Given the description of an element on the screen output the (x, y) to click on. 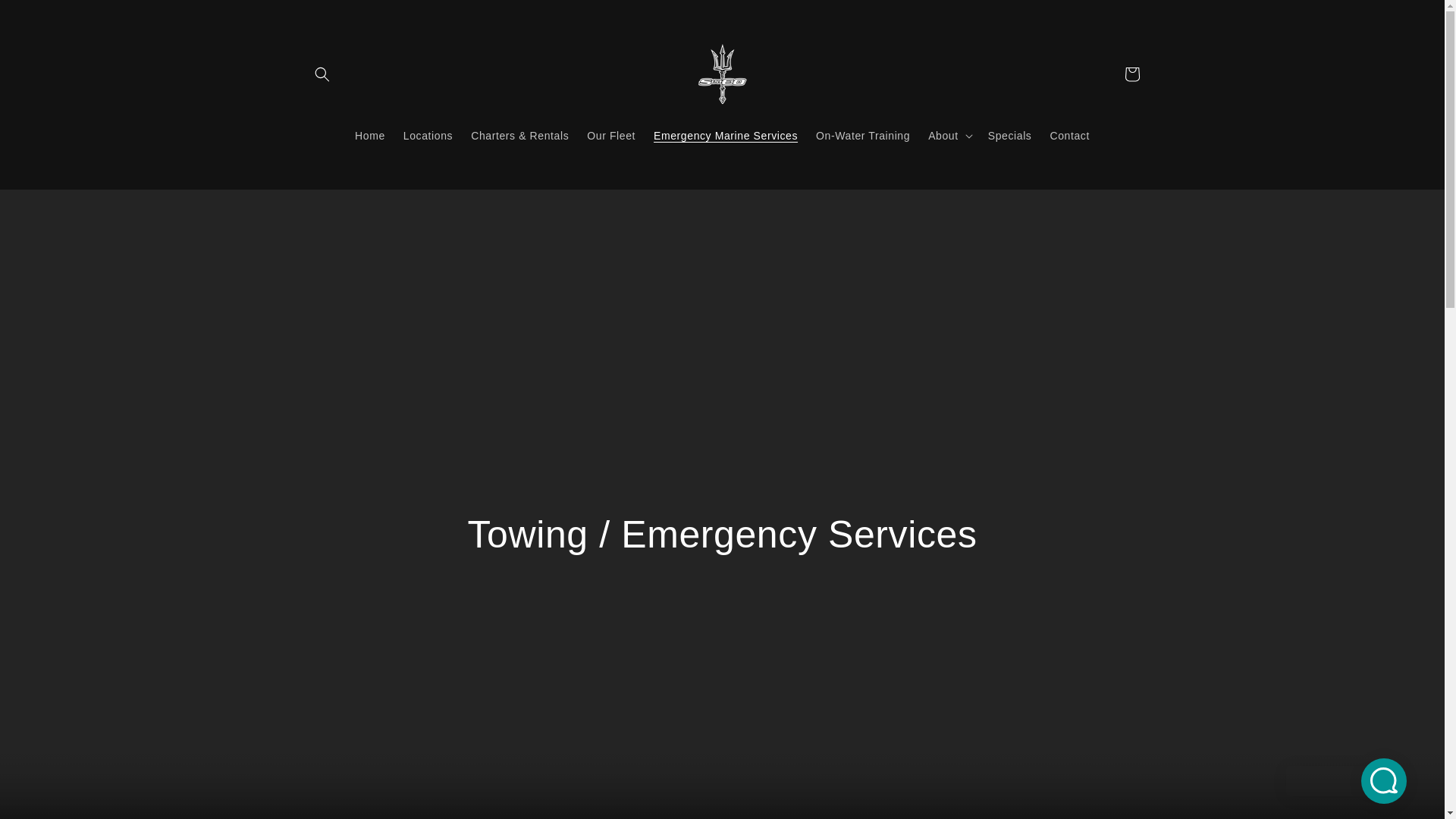
On-Water Training (862, 135)
Our Fleet (611, 135)
Home (370, 135)
Specials (1009, 135)
Skip to content (45, 16)
Emergency Marine Services (725, 135)
Contact (1069, 135)
Cart (1131, 73)
Locations (427, 135)
